Given the description of an element on the screen output the (x, y) to click on. 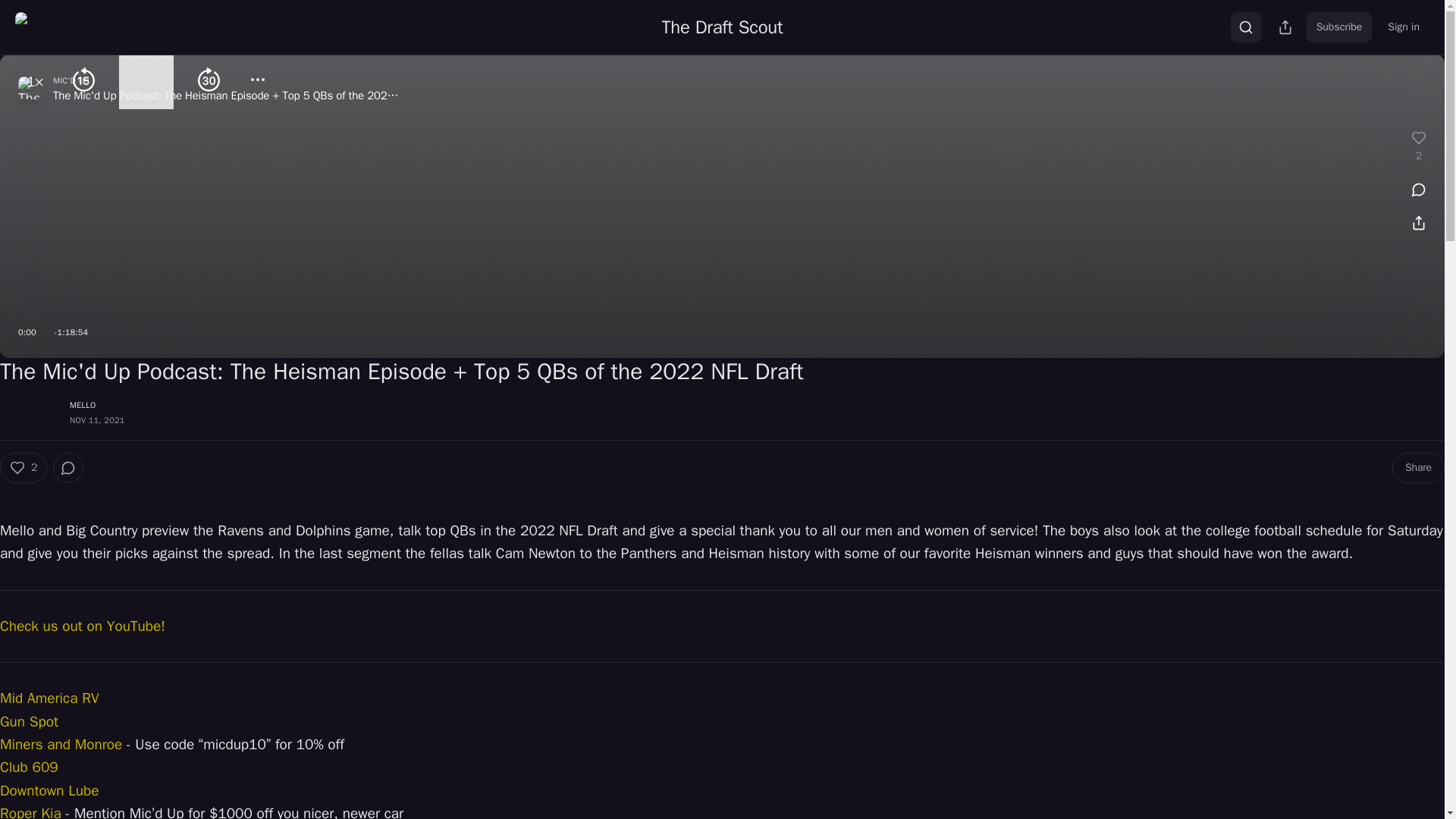
Club 609 (29, 767)
MELLO (82, 404)
Sign in (1403, 27)
Check us out on YouTube! (82, 626)
Mid America RV (49, 698)
Gun Spot (29, 721)
Miners and Monroe (61, 744)
Downtown Lube (49, 791)
Roper Kia (30, 811)
2 (23, 467)
The Draft Scout (722, 26)
Share (1417, 467)
Subscribe (1339, 27)
